Given the description of an element on the screen output the (x, y) to click on. 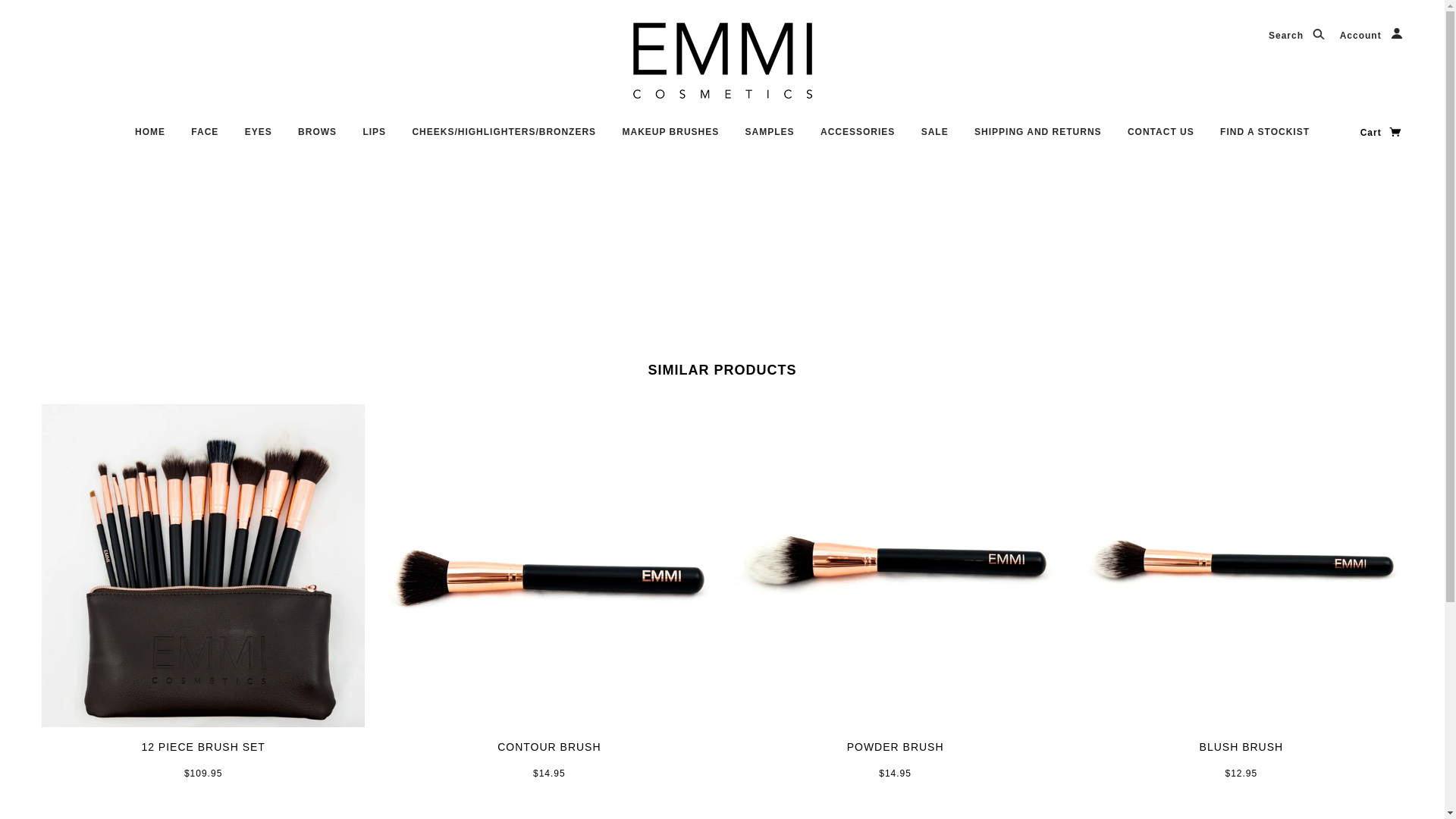
CONTOUR BRUSH Element type: text (548, 746)
Emmi Cosmetics Element type: hover (721, 60)
FACE Element type: text (204, 137)
SAMPLES Element type: text (770, 137)
Account Element type: text (1370, 35)
HOME Element type: text (149, 137)
POWDER BRUSH Element type: text (895, 746)
Cart Element type: text (1381, 132)
CHEEKS/HIGHLIGHTERS/BRONZERS Element type: text (503, 137)
SHIPPING AND RETURNS Element type: text (1038, 137)
ACCESSORIES Element type: text (857, 137)
BLUSH BRUSH Element type: text (1241, 746)
CONTACT US Element type: text (1160, 137)
MAKEUP BRUSHES Element type: text (670, 137)
FIND A STOCKIST Element type: text (1264, 137)
LIPS Element type: text (374, 137)
12 PIECE BRUSH SET Element type: text (203, 746)
EYES Element type: text (258, 137)
SALE Element type: text (935, 137)
Search Element type: text (1296, 35)
BROWS Element type: text (317, 137)
